Given the description of an element on the screen output the (x, y) to click on. 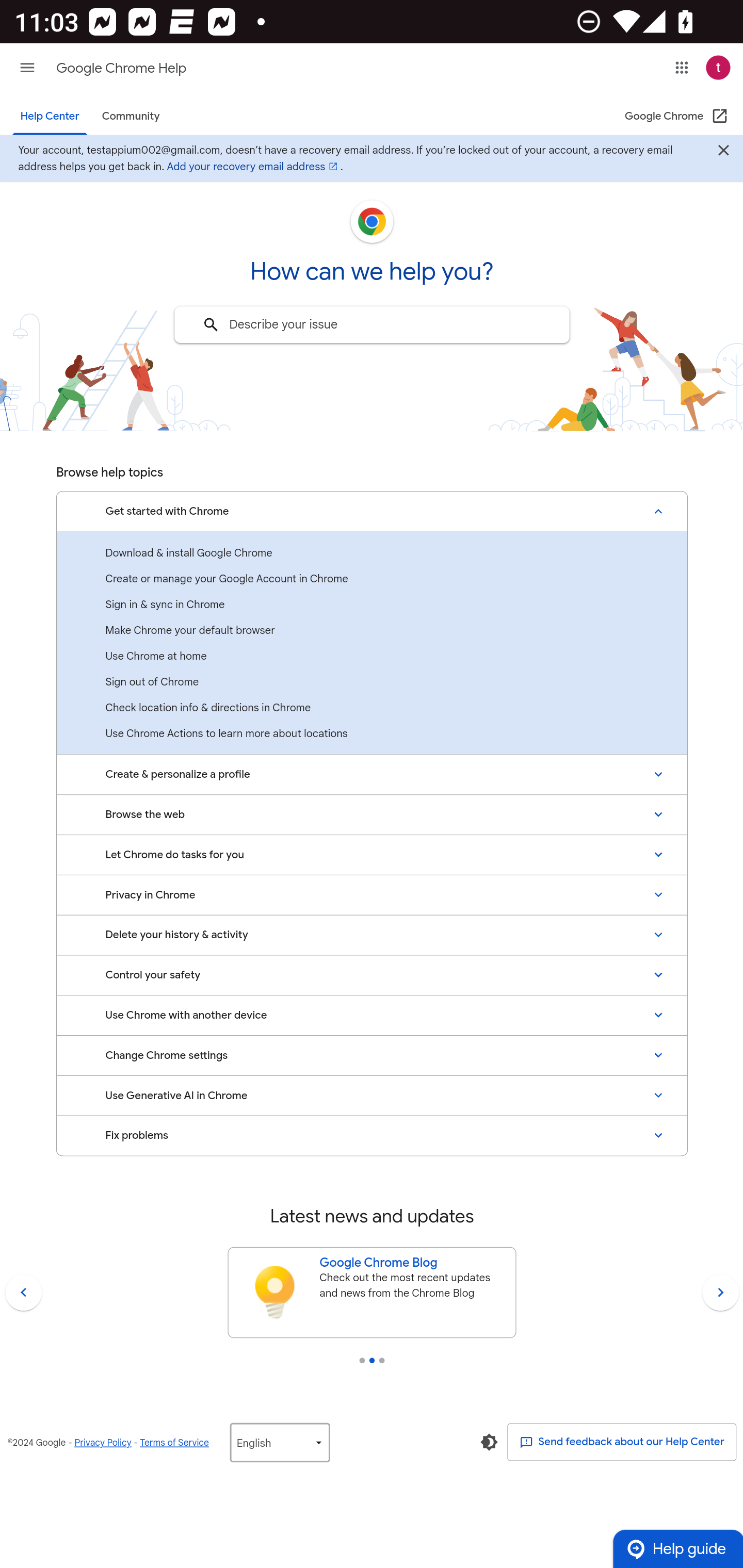
Main menu (27, 67)
Google Chrome Help (120, 67)
Google apps (681, 67)
Help Center (49, 115)
Community (129, 115)
Google Chrome (Open in a new window) Google Chrome (676, 115)
Close (723, 151)
Add your recovery email address (253, 166)
Search (210, 324)
Download & install Google Chrome (371, 552)
Create or manage your Google Account in Chrome (371, 578)
Sign in & sync in Chrome (371, 604)
Make Chrome your default browser (371, 629)
Use Chrome at home (371, 655)
Sign out of Chrome (371, 680)
Check location info & directions in Chrome (371, 707)
Use Chrome Actions to learn more about locations (371, 732)
Create & personalize a profile (371, 774)
Browse the web (371, 814)
Let Chrome do tasks for you (371, 854)
Privacy in Chrome (371, 894)
Delete your history & activity (371, 934)
Control your safety (371, 974)
Use Chrome with another device (371, 1014)
Change Chrome settings (371, 1054)
Use Generative AI in Chrome (371, 1095)
Fix problems (371, 1135)
Previous (23, 1291)
Next (720, 1291)
Language (English‎) (278, 1442)
Enable Dark Mode (488, 1442)
 Send feedback about our Help Center (621, 1442)
Privacy Policy (103, 1442)
Terms of Service (174, 1442)
Help guide (677, 1548)
